Given the description of an element on the screen output the (x, y) to click on. 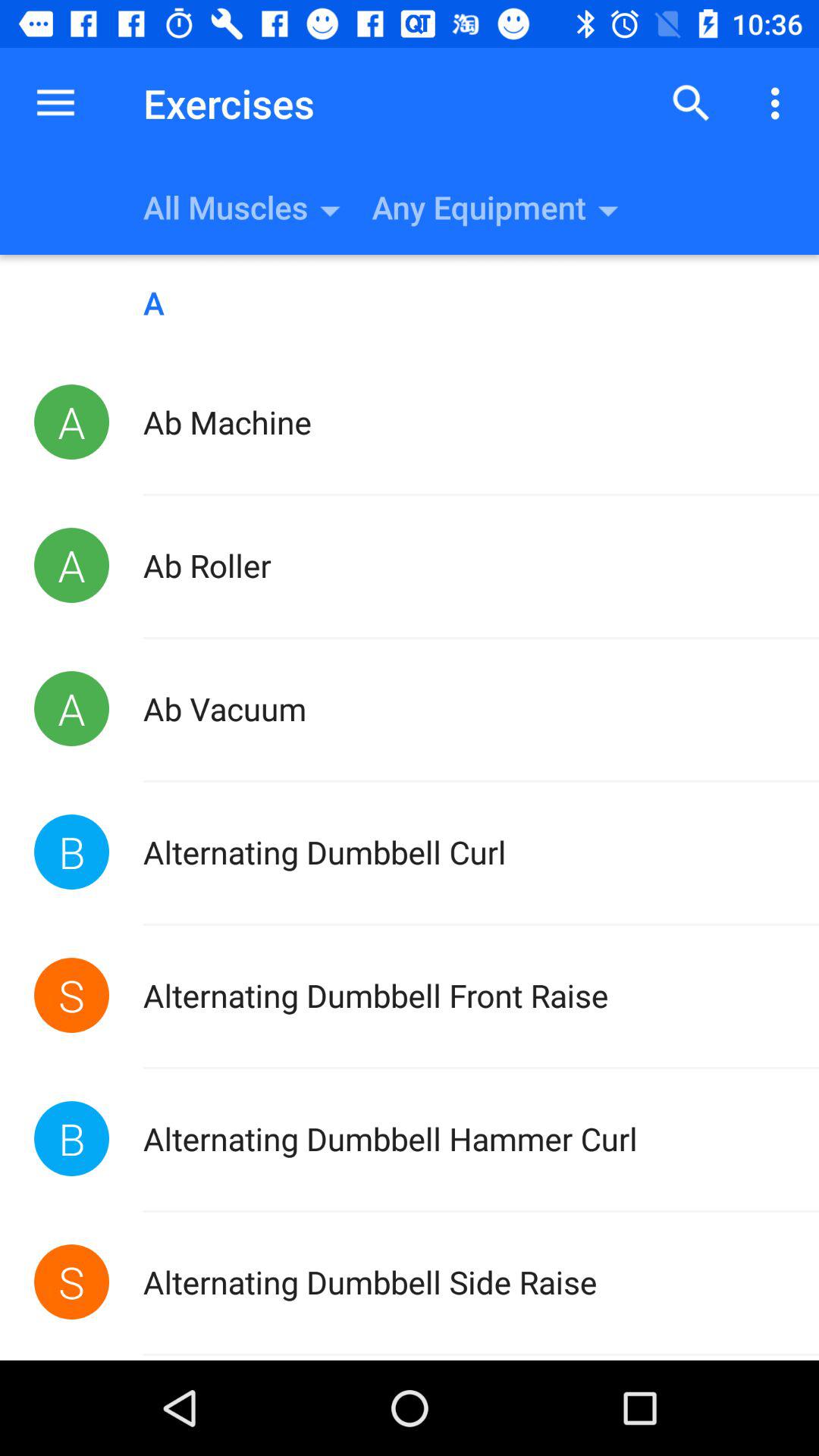
open the item next to exercises (691, 103)
